Given the description of an element on the screen output the (x, y) to click on. 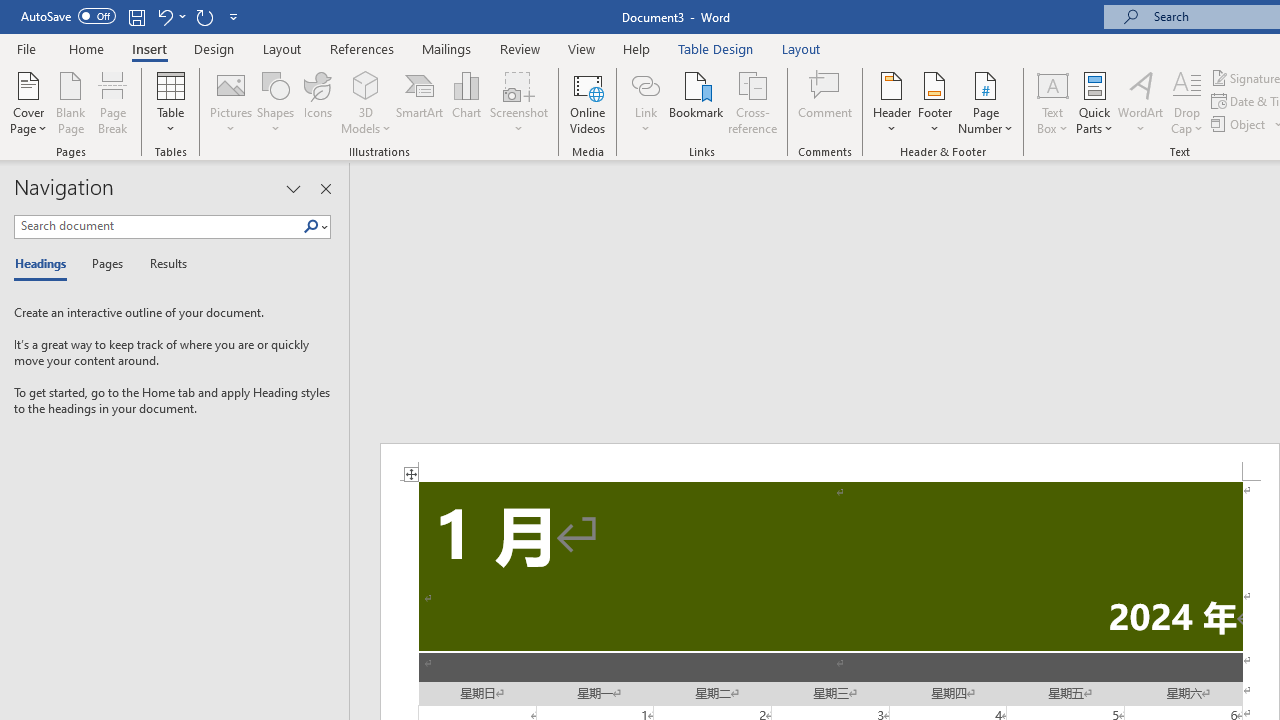
Comment (825, 102)
Pictures (230, 102)
Bookmark... (695, 102)
Link (645, 84)
Chart... (466, 102)
Repeat Doc Close (204, 15)
3D Models (366, 102)
Table (170, 102)
Headings (45, 264)
Text Box (1052, 102)
Header (891, 102)
